Given the description of an element on the screen output the (x, y) to click on. 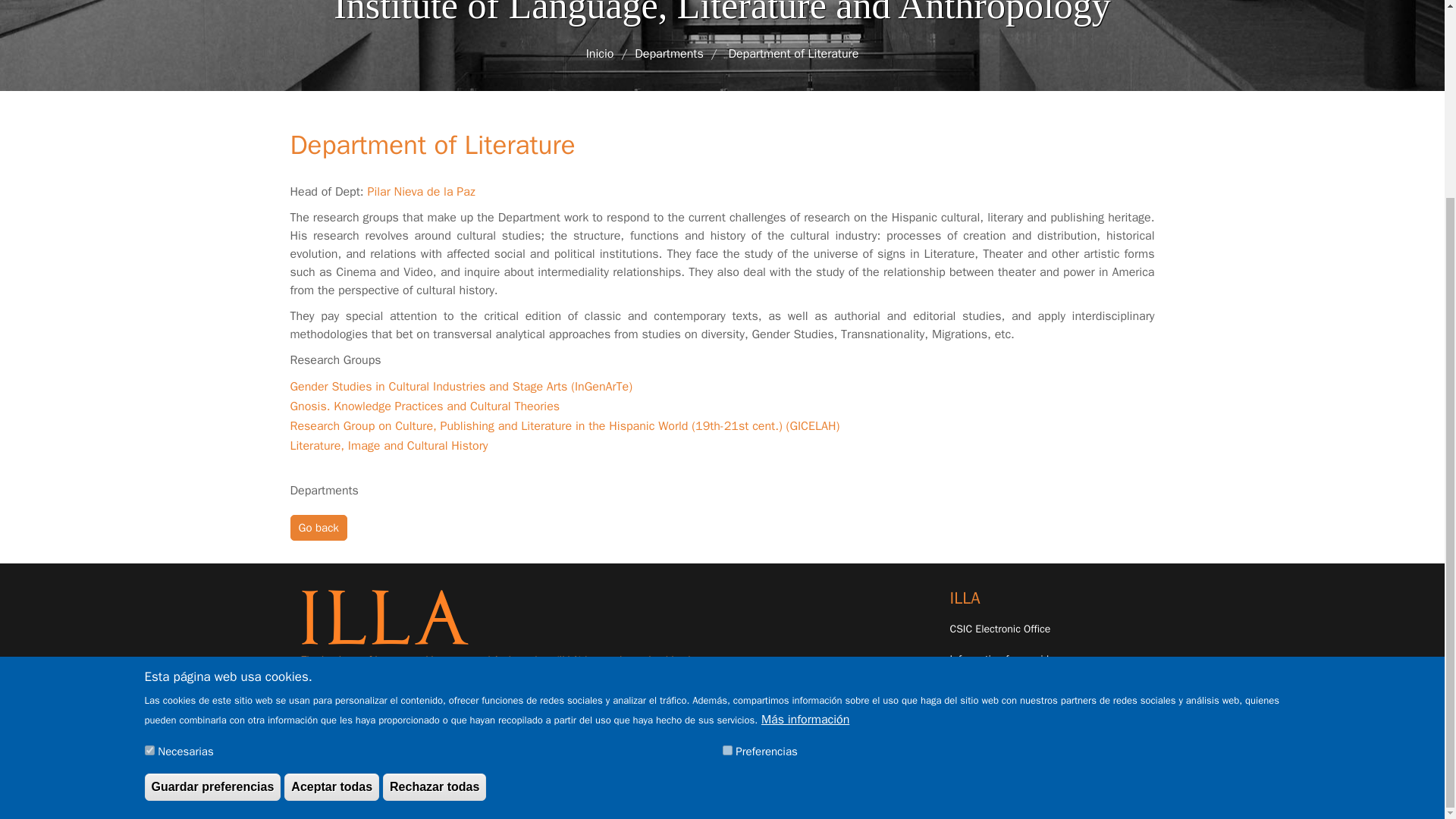
necesarias (149, 500)
preferencias (727, 500)
